Given the description of an element on the screen output the (x, y) to click on. 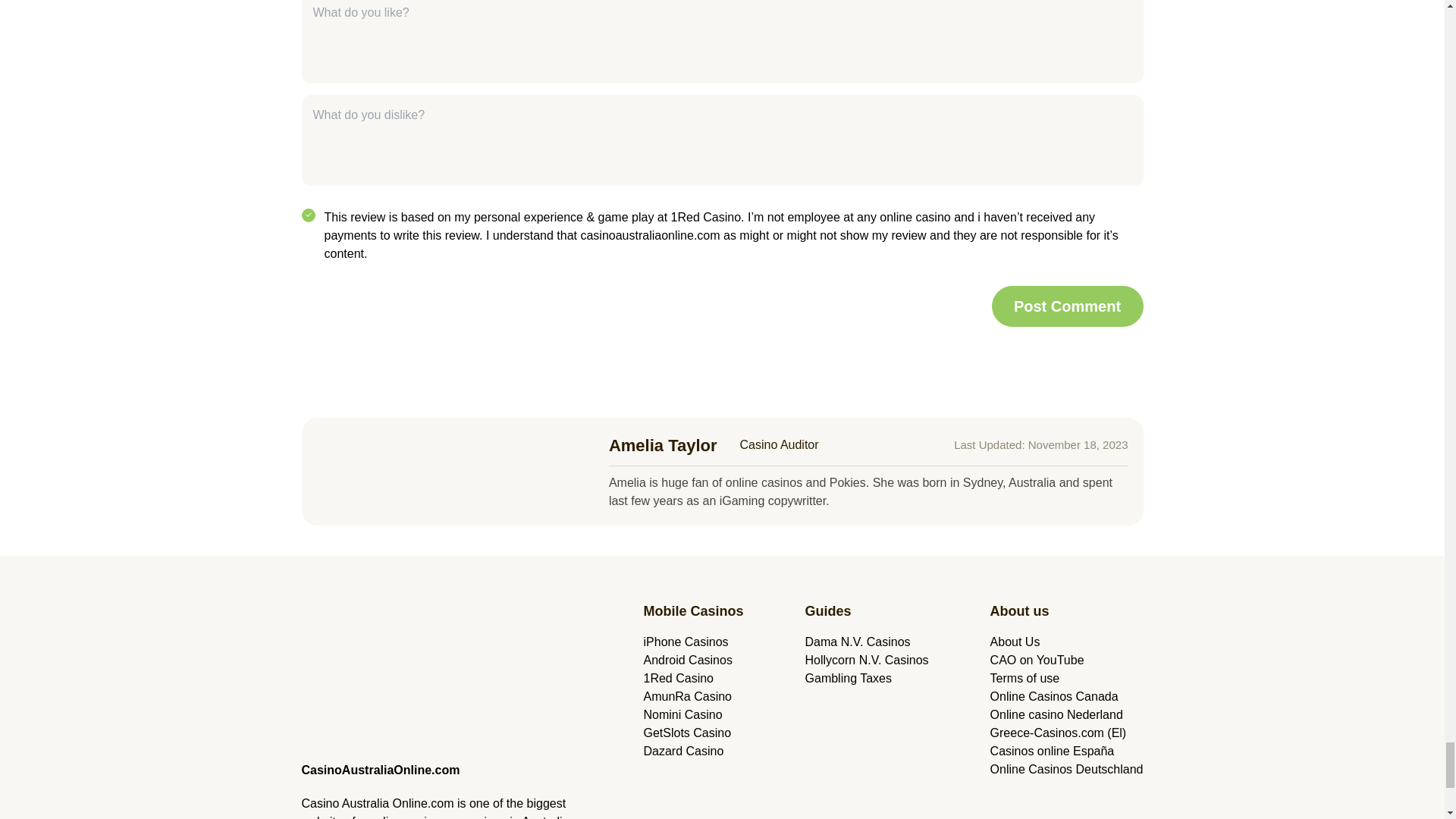
Post Comment (1066, 305)
